Given the description of an element on the screen output the (x, y) to click on. 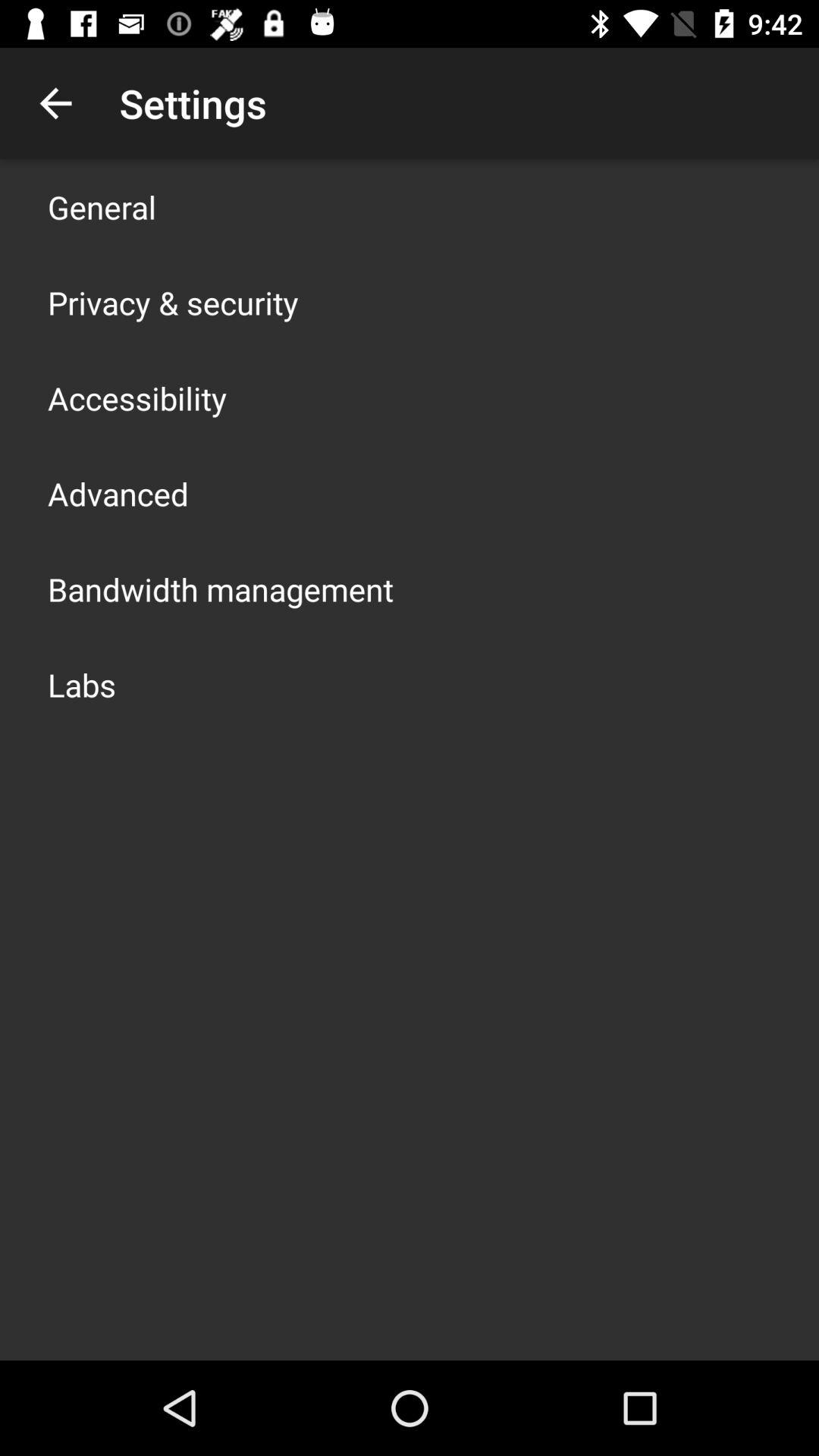
launch icon above privacy & security (101, 206)
